Given the description of an element on the screen output the (x, y) to click on. 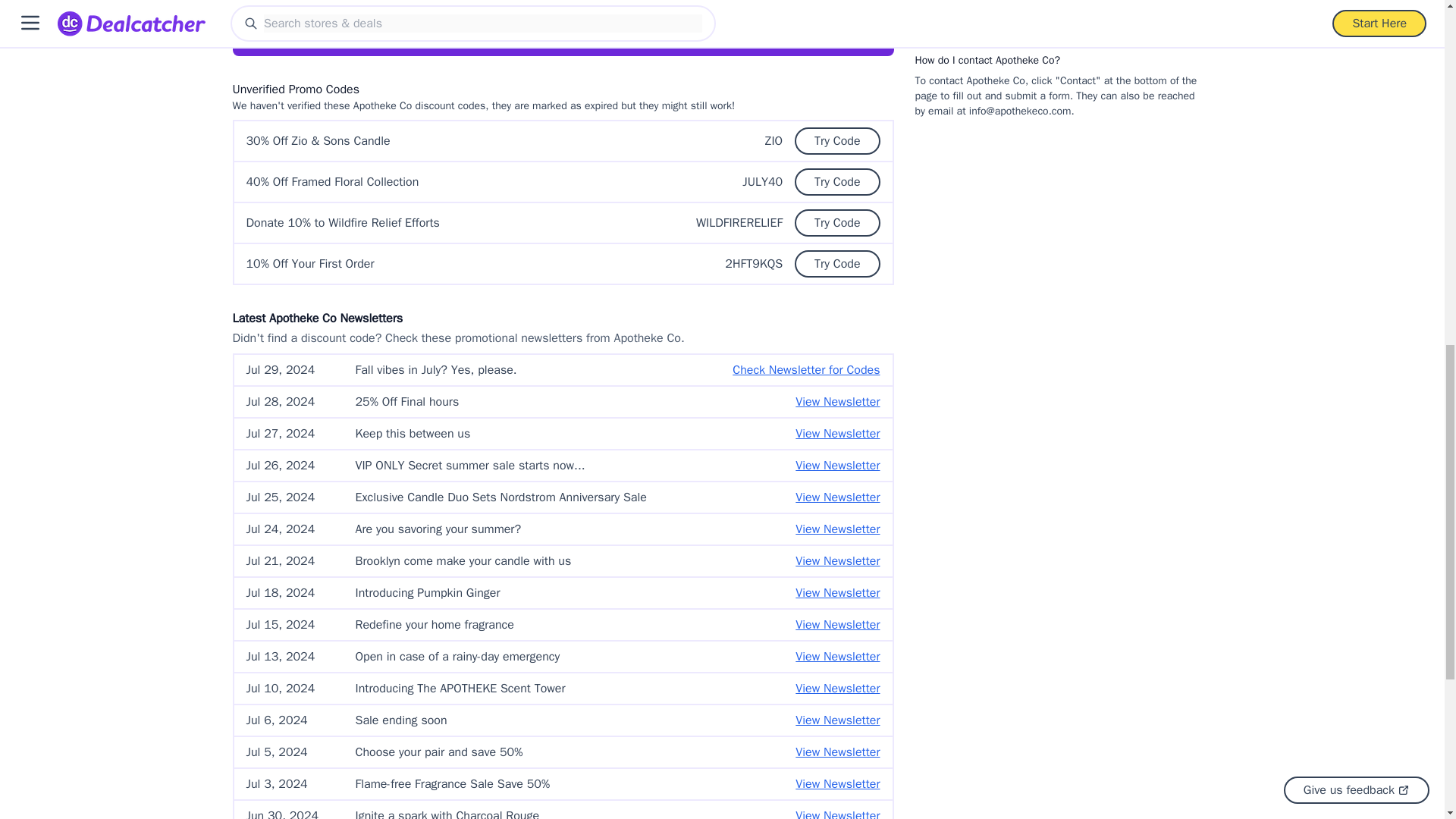
View Newsletter (836, 497)
View Newsletter (836, 434)
Check Newsletter for Codes (805, 370)
Create Alert (825, 25)
View Newsletter (836, 402)
View Newsletter (836, 465)
